Given the description of an element on the screen output the (x, y) to click on. 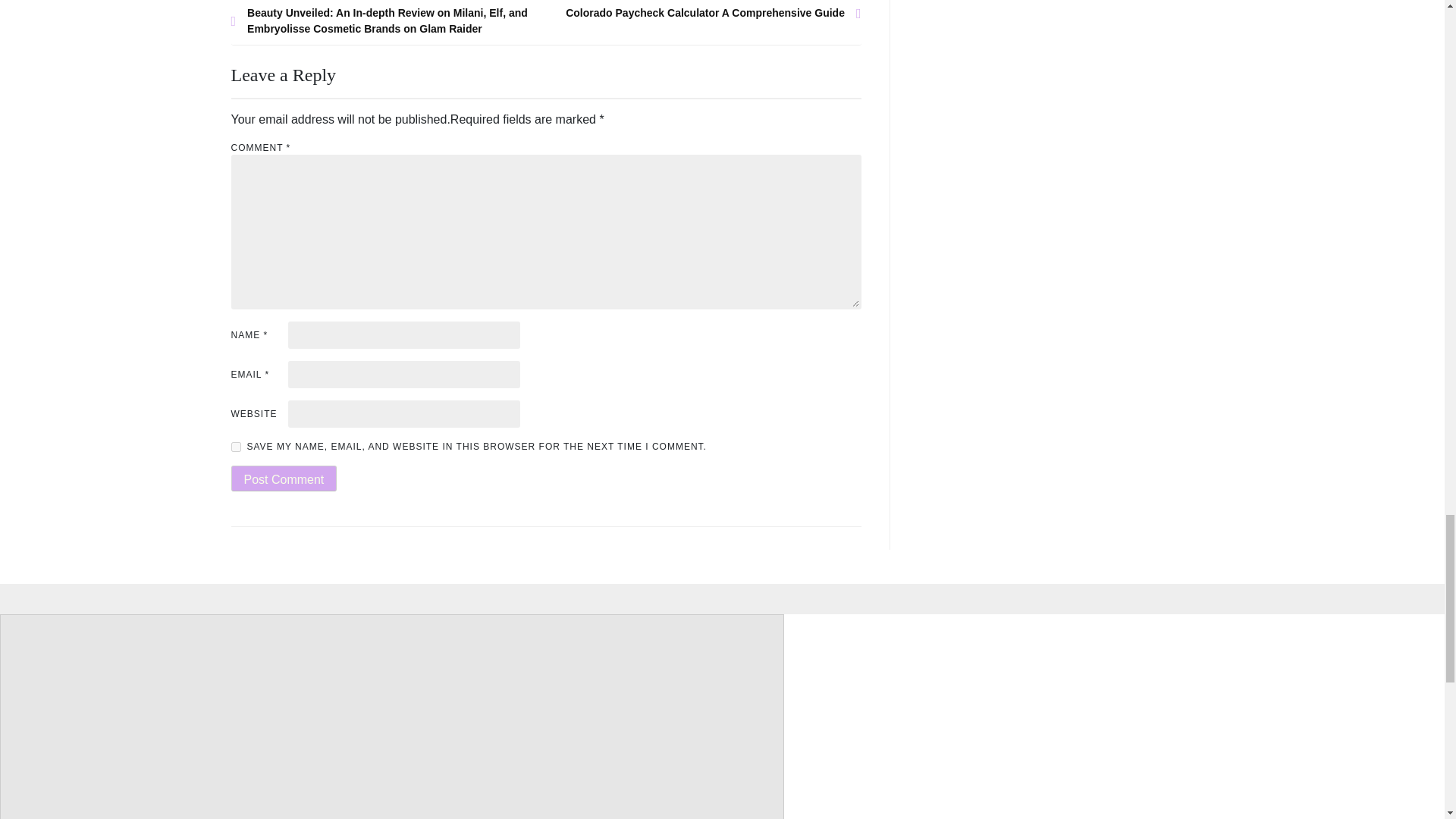
Post Comment (283, 478)
yes (235, 447)
